Given the description of an element on the screen output the (x, y) to click on. 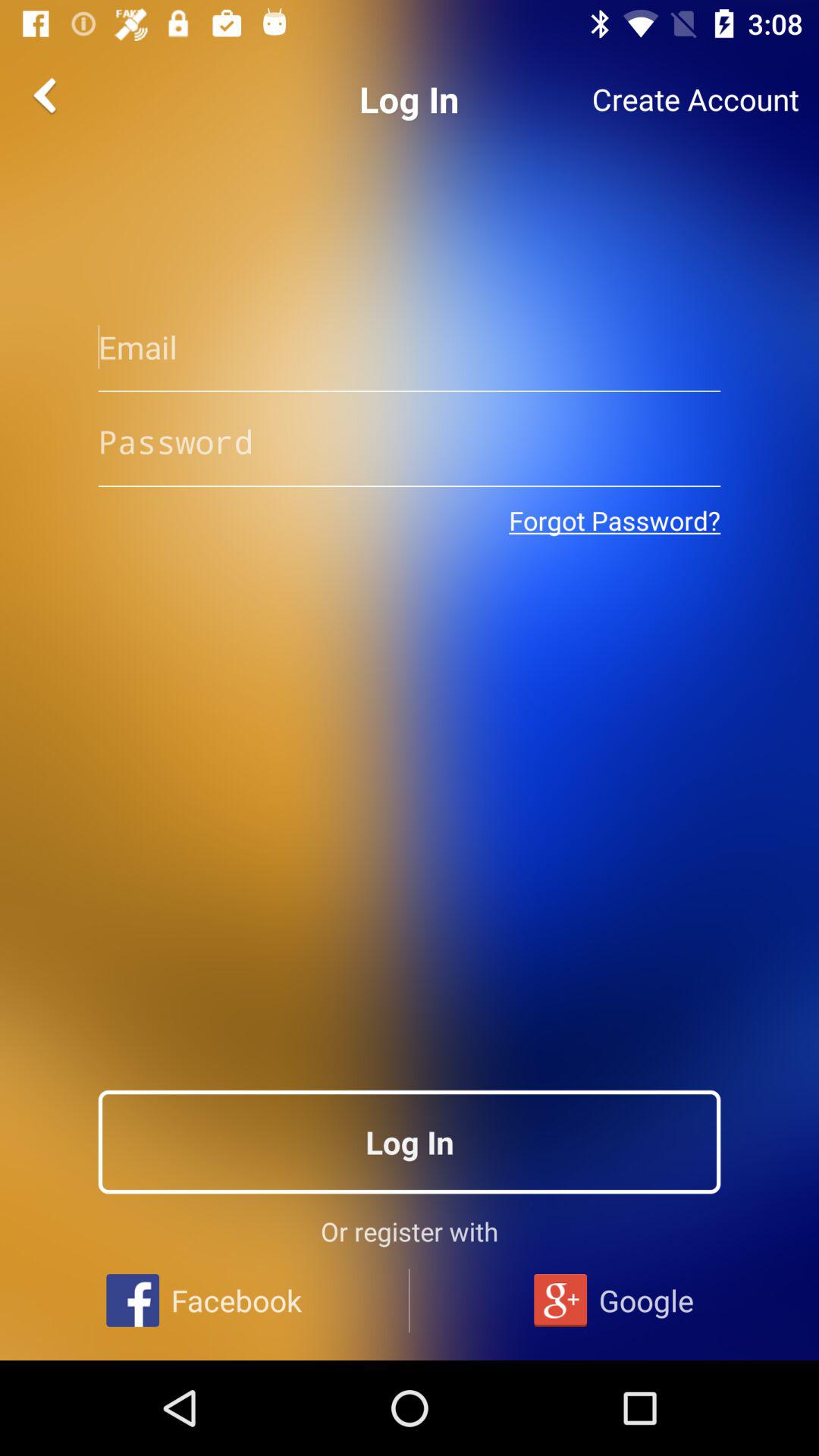
enter password (409, 441)
